Given the description of an element on the screen output the (x, y) to click on. 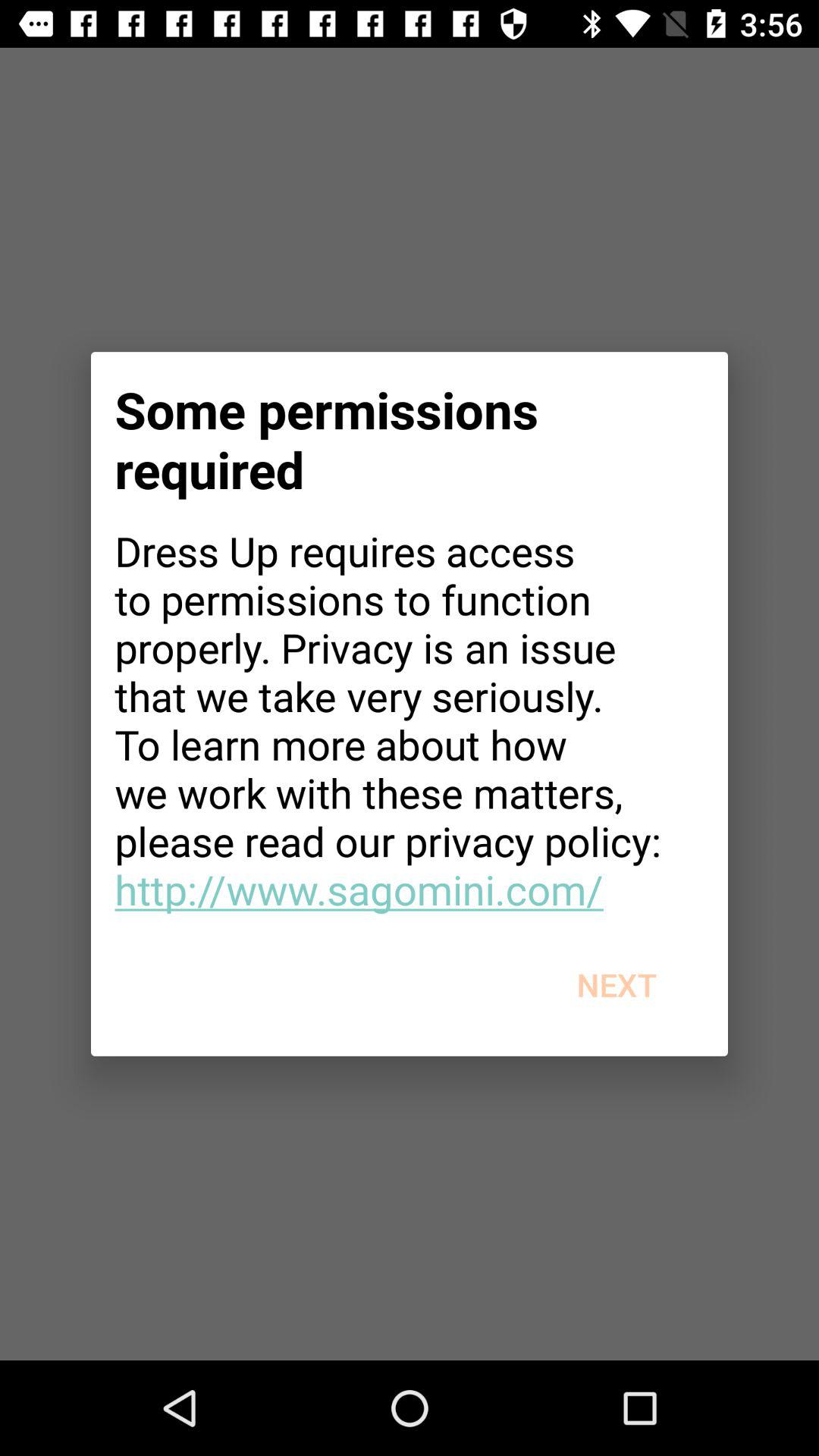
choose icon below the some permissions required (409, 719)
